Given the description of an element on the screen output the (x, y) to click on. 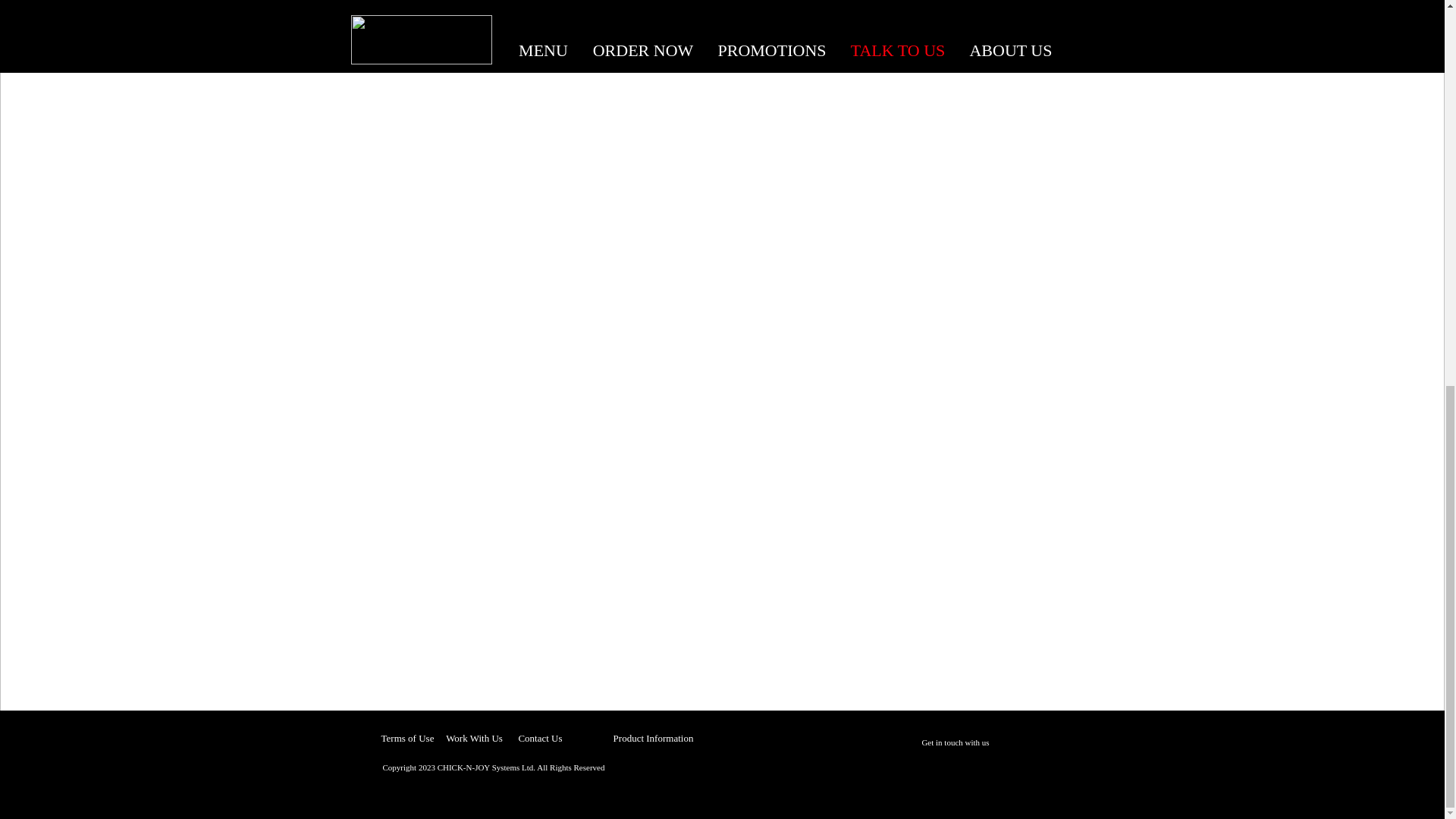
Work With Us (473, 738)
Terms of Use (406, 738)
Contact Us (539, 738)
Product Information (652, 738)
